Given the description of an element on the screen output the (x, y) to click on. 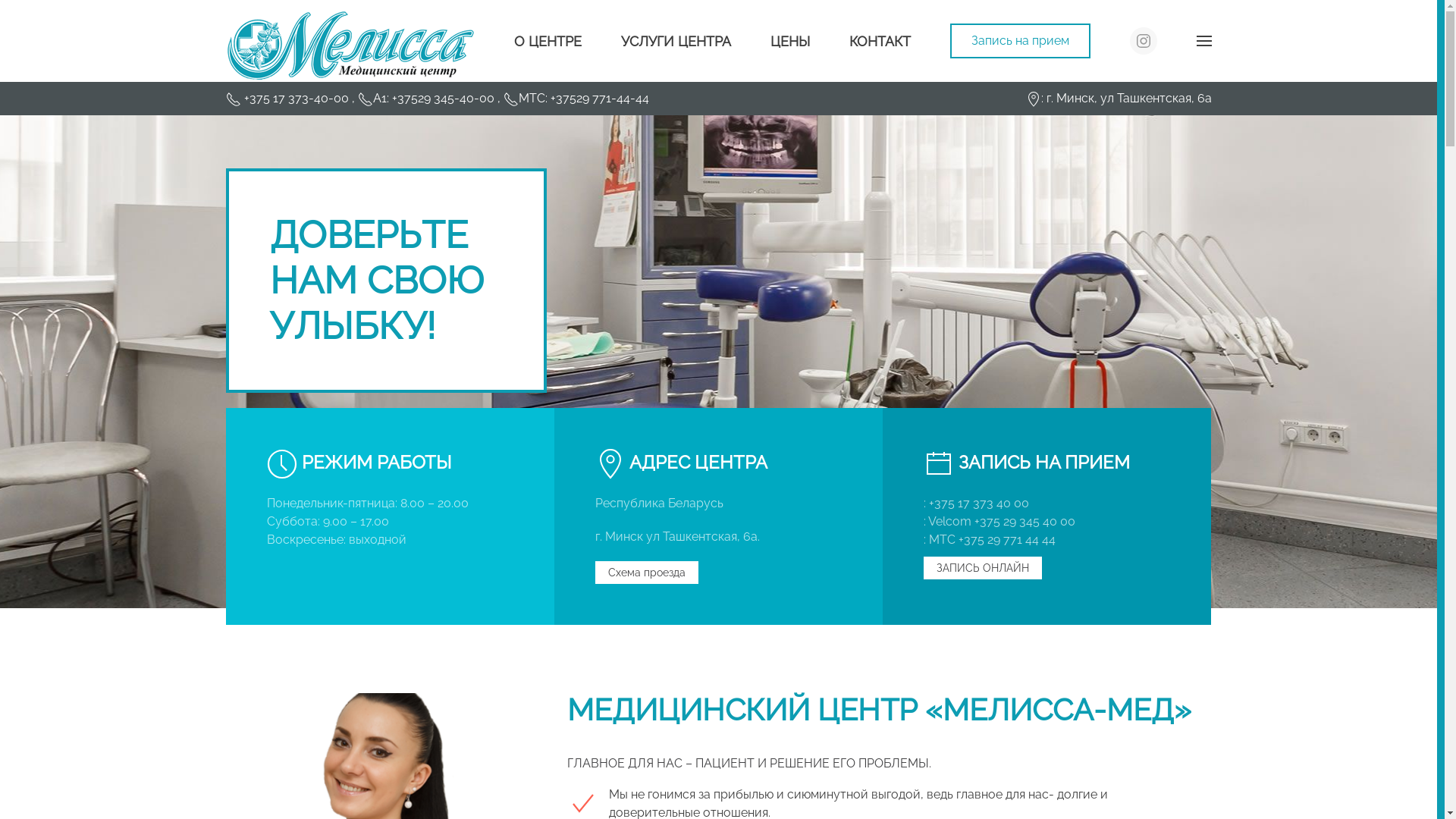
+37529 345-40-00 Element type: text (442, 98)
+375 17 373-40-00 Element type: text (297, 98)
+37529 771-44-44 Element type: text (598, 98)
